Given the description of an element on the screen output the (x, y) to click on. 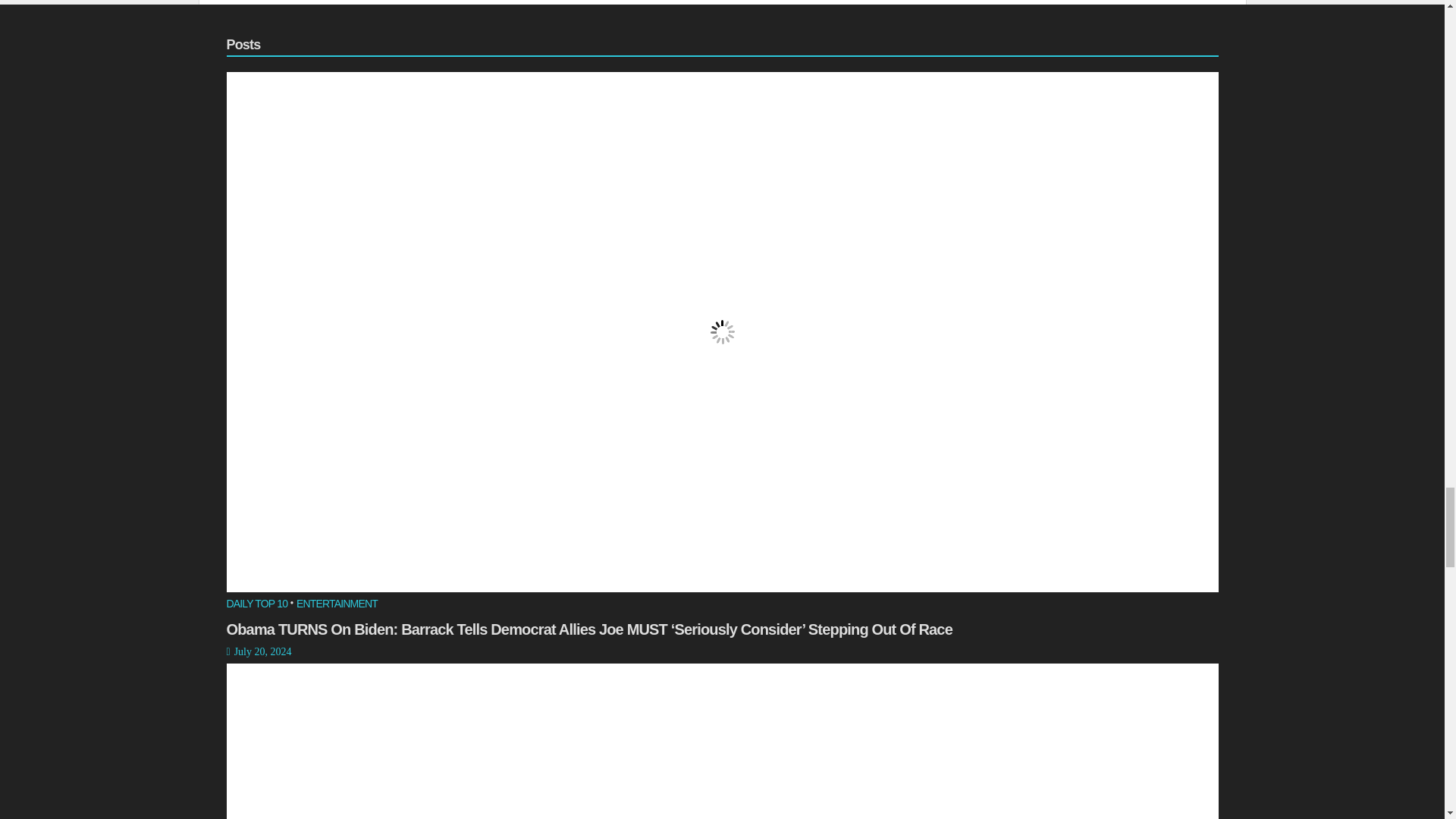
ENTERTAINMENT (337, 605)
DAILY TOP 10 (255, 605)
